Given the description of an element on the screen output the (x, y) to click on. 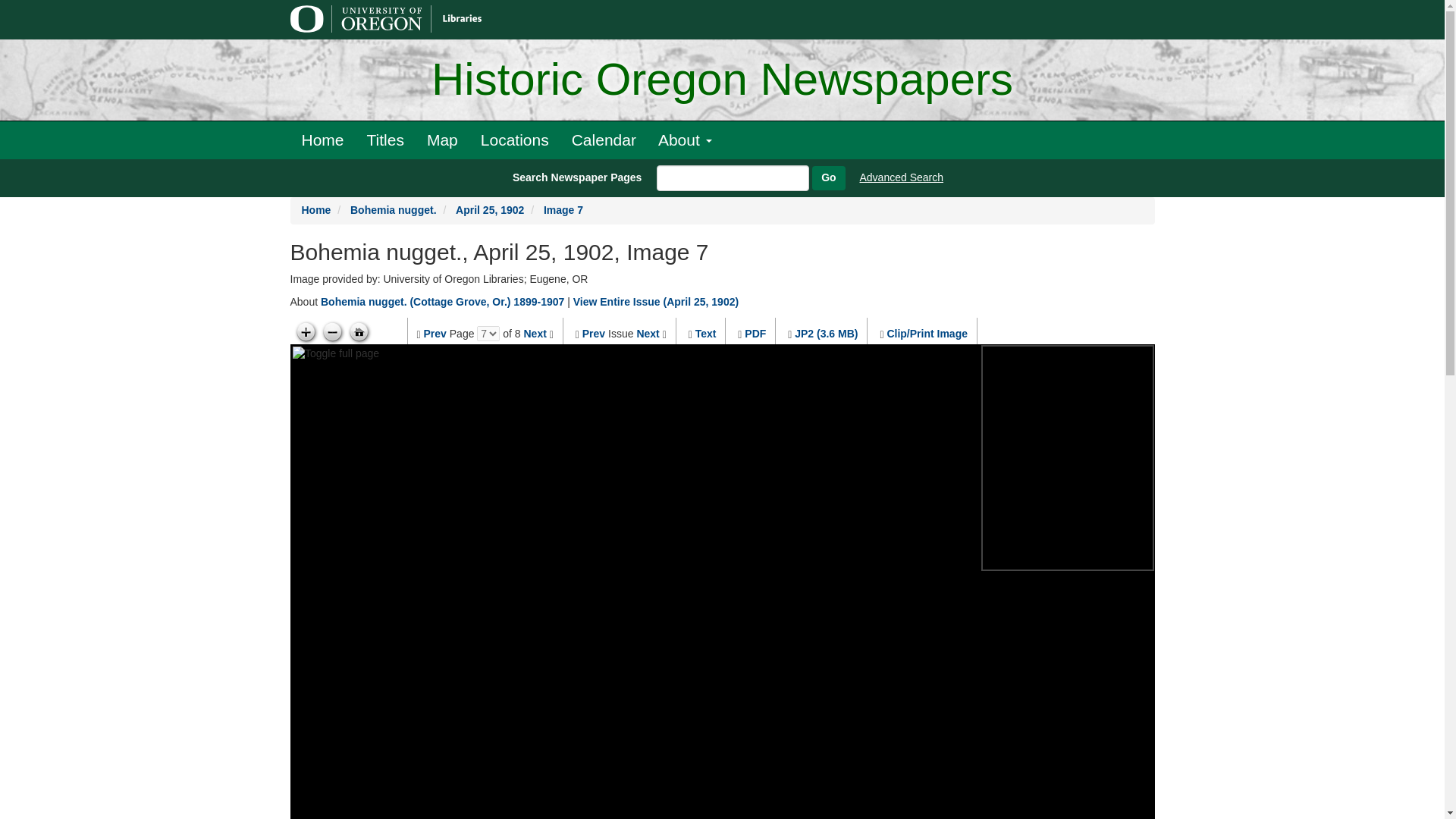
Go (828, 178)
Go home (359, 332)
Historic Oregon Newspapers (721, 79)
Zoom in (305, 332)
Prev (593, 333)
Toggle full page (335, 353)
Home (316, 209)
Image 7 (563, 209)
Map (441, 139)
April 25, 1902 (489, 209)
Next (647, 333)
Locations (514, 139)
Bohemia nugget. (393, 209)
Text (705, 333)
Advanced Search (901, 177)
